Given the description of an element on the screen output the (x, y) to click on. 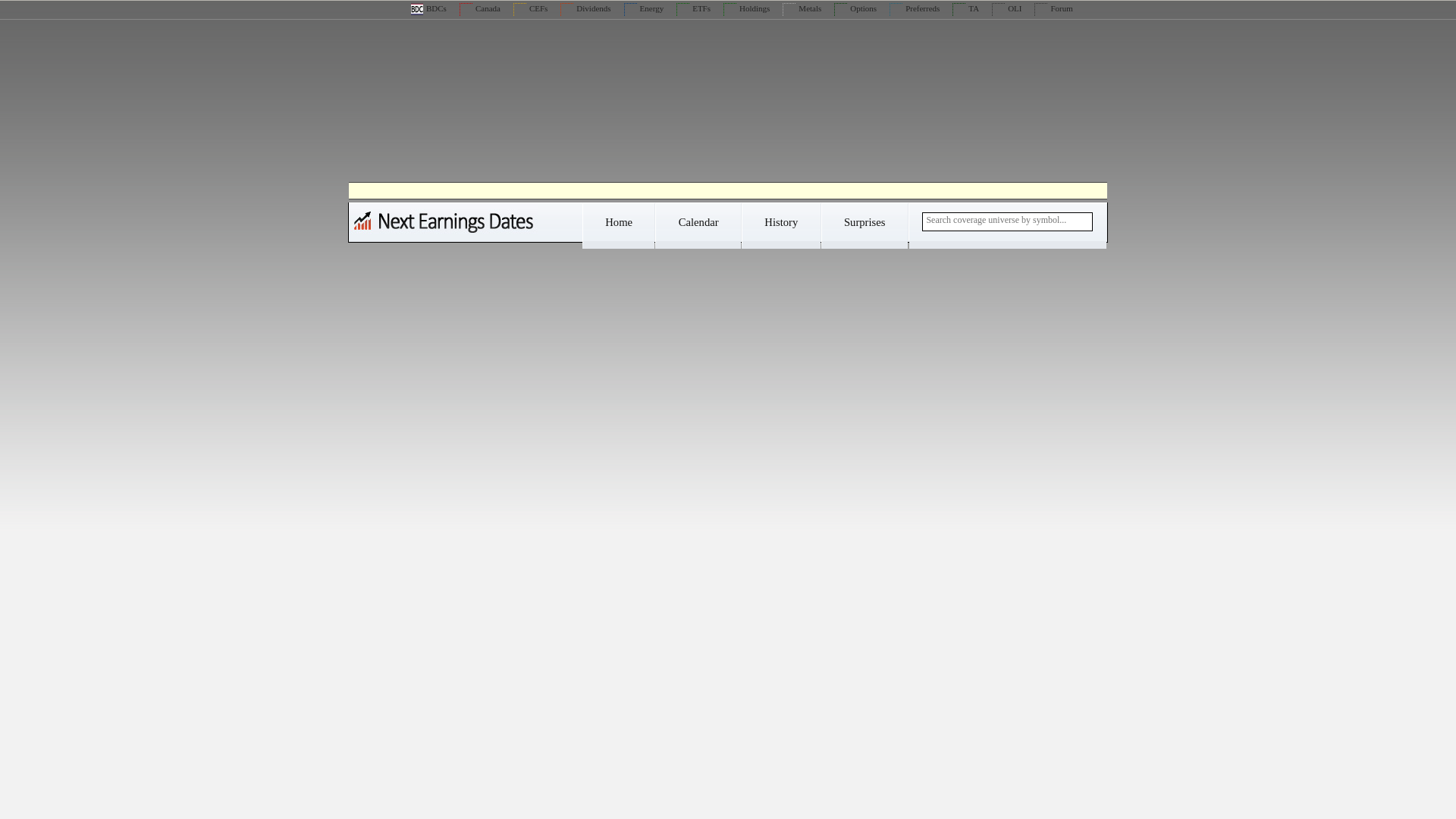
TA (965, 8)
ETFs (693, 8)
Enery Stock Channel (643, 8)
Metals (802, 8)
Canada Stock Channel (480, 8)
Holdings (746, 8)
Energy (643, 8)
OLI (1006, 8)
Technical Analysis Channel (965, 8)
CEF Channel (530, 8)
Options (855, 8)
Holdings Channel (746, 8)
The Online Investor (1006, 8)
Preferreds (914, 8)
Dividends (585, 8)
